Given the description of an element on the screen output the (x, y) to click on. 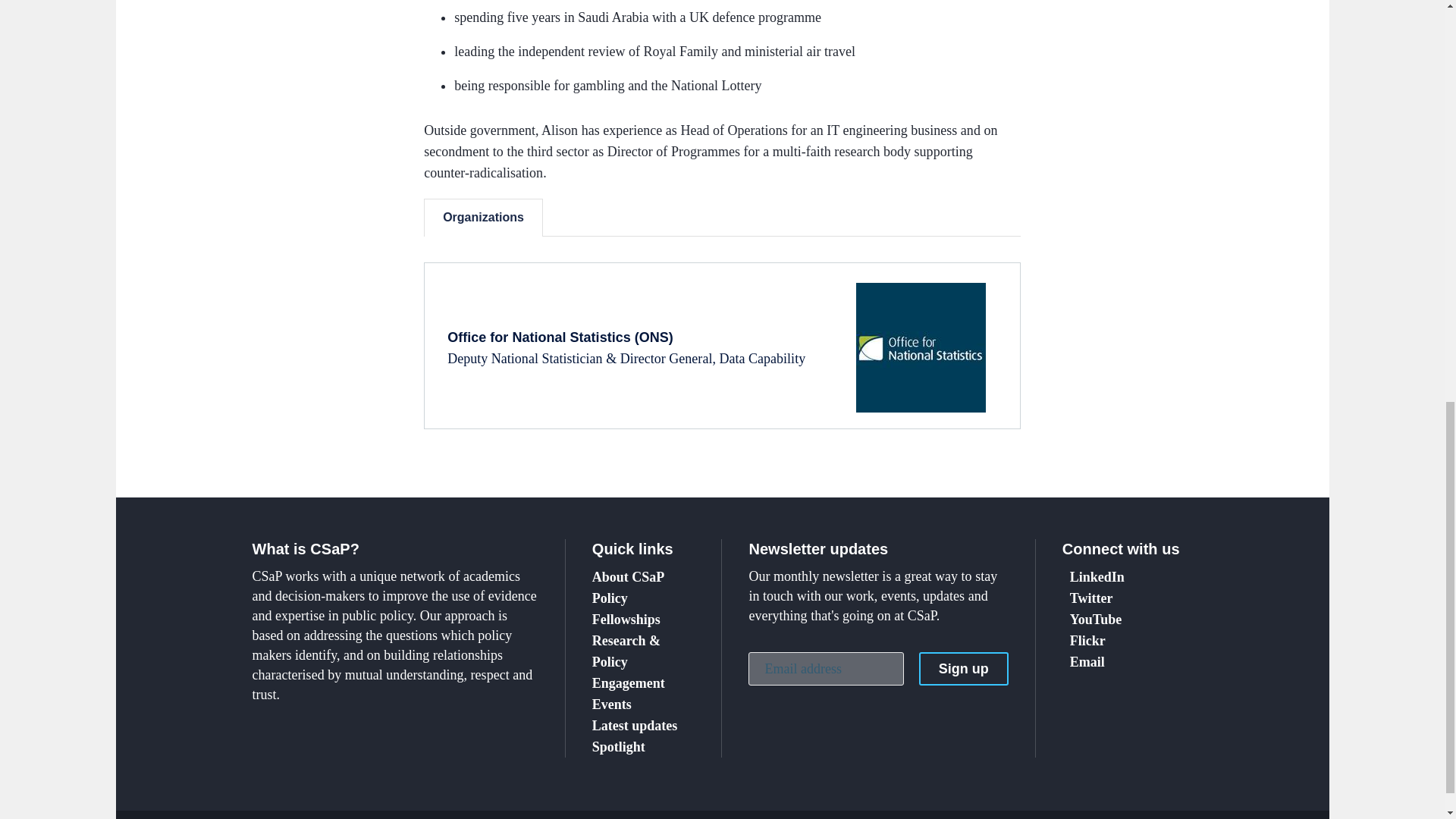
Sign up (963, 668)
